Given the description of an element on the screen output the (x, y) to click on. 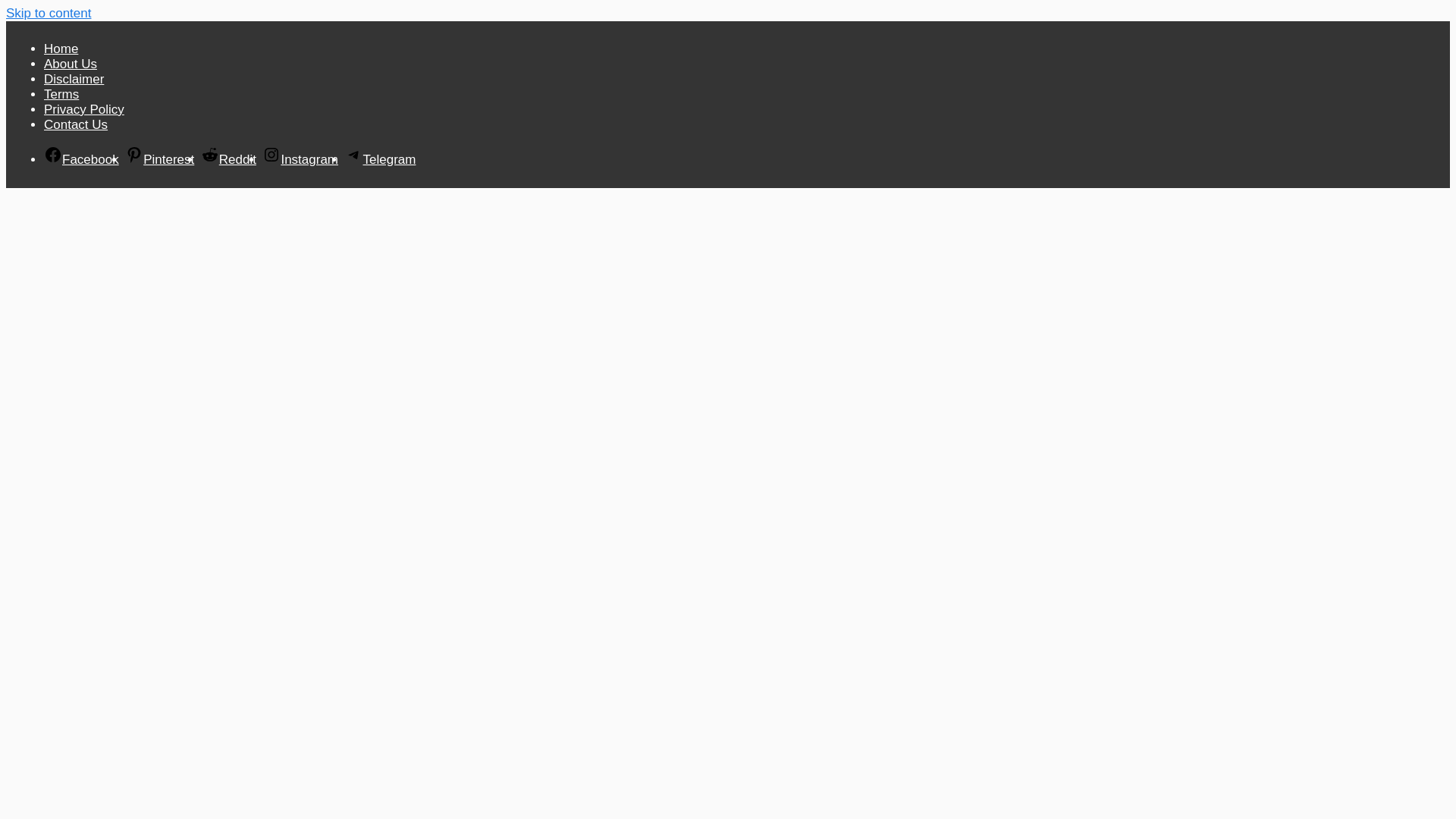
Disclaimer (73, 79)
Facebook (81, 159)
Terms (60, 93)
Skip to content (47, 12)
Home (60, 48)
Skip to content (47, 12)
Reddit (228, 159)
Instagram (299, 159)
About Us (70, 63)
Telegram (378, 159)
Contact Us (75, 124)
Privacy Policy (83, 109)
Pinterest (159, 159)
